Given the description of an element on the screen output the (x, y) to click on. 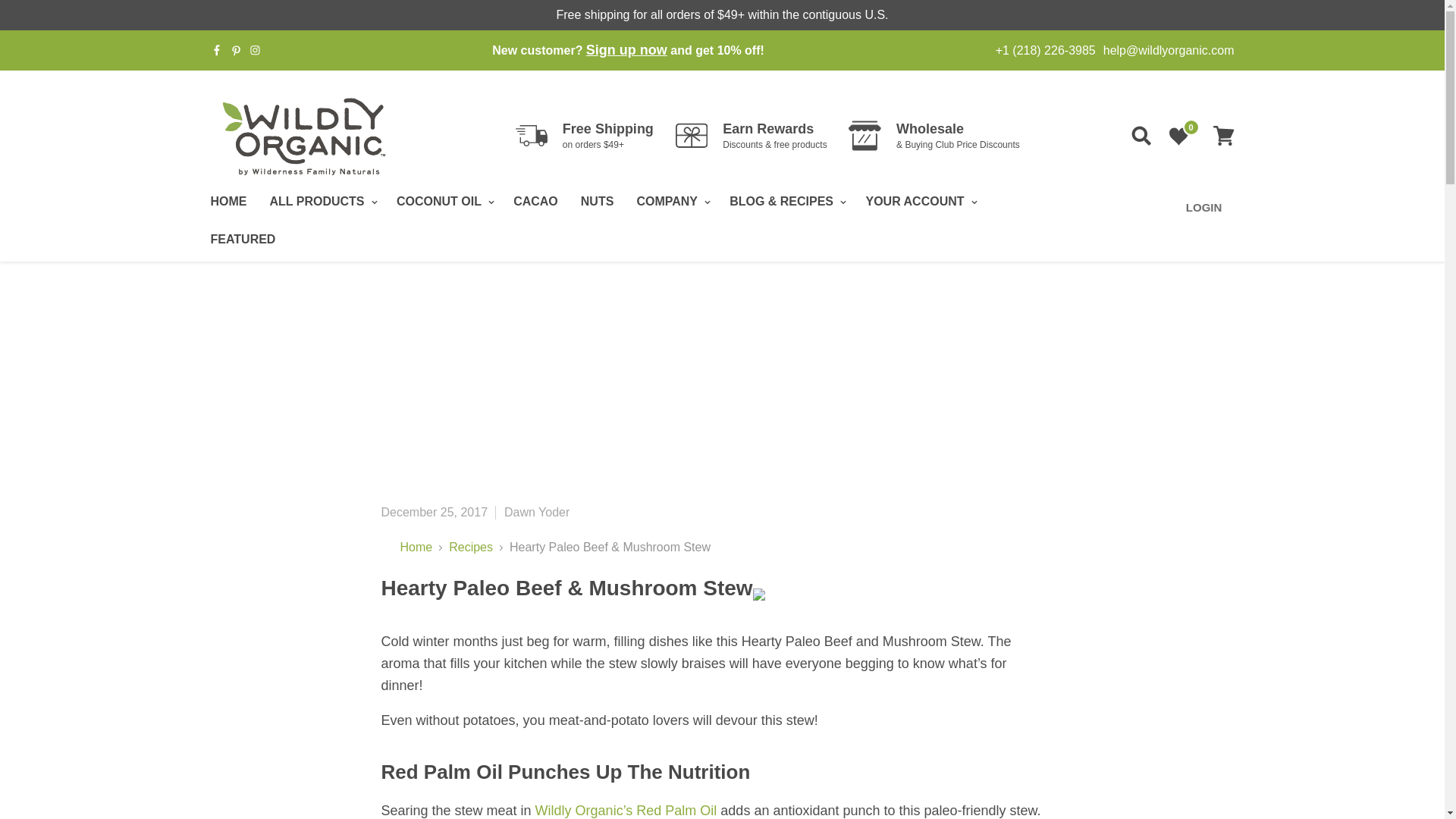
Find us on Pinterest (234, 49)
Find us on Facebook (217, 49)
Sign up now (626, 49)
Instagram (255, 49)
0 (1177, 135)
HOME (227, 201)
Find us on Instagram (255, 49)
Pinterest (234, 49)
View cart (1223, 135)
Facebook (217, 49)
